Given the description of an element on the screen output the (x, y) to click on. 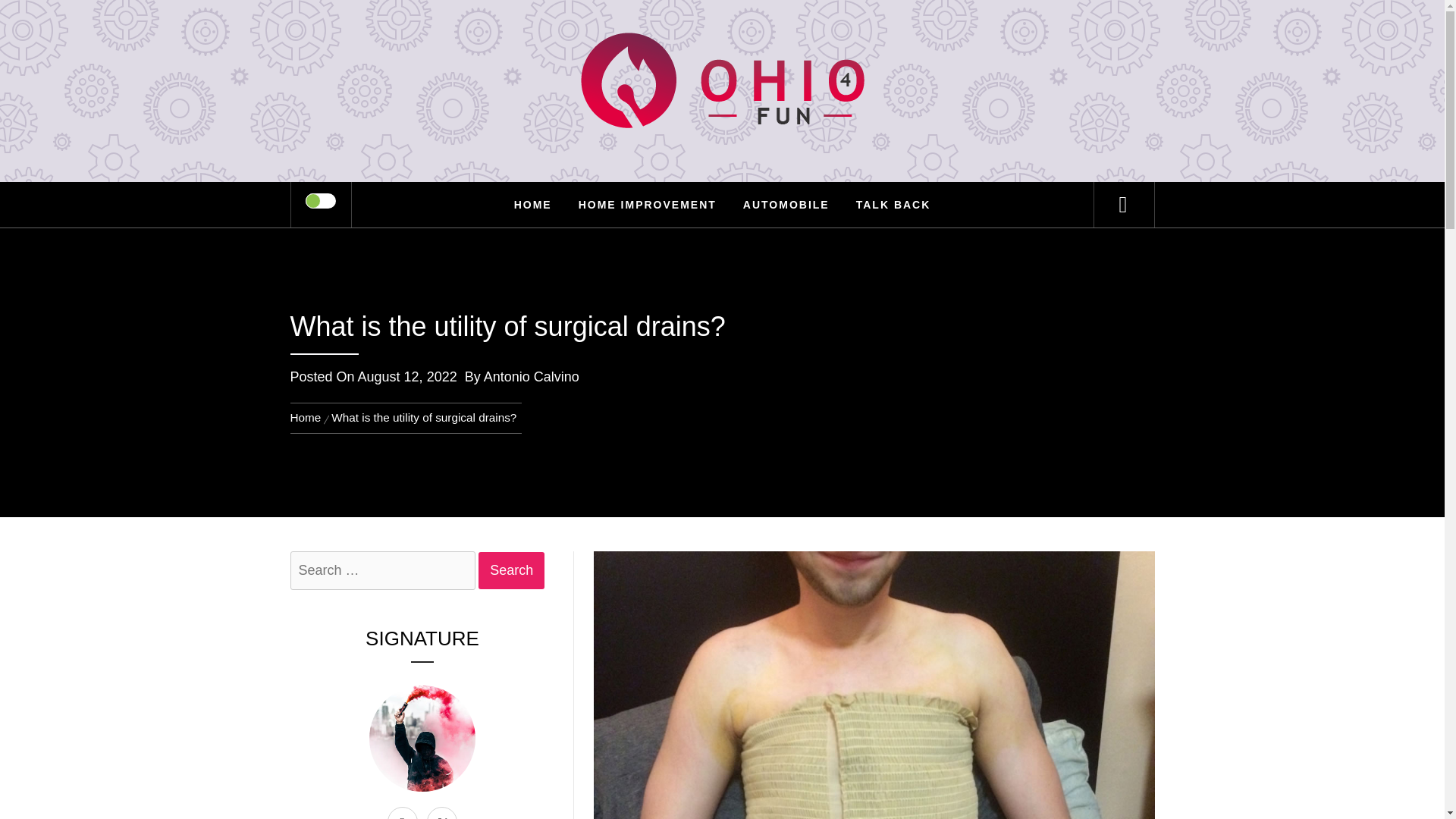
HOME (532, 204)
Search (511, 570)
Search (511, 570)
Home (307, 417)
August 12, 2022 (407, 376)
TALK BACK (893, 204)
HOME IMPROVEMENT (647, 204)
Search (797, 33)
OHIO 4 FUN (721, 74)
AUTOMOBILE (786, 204)
Search (511, 570)
Antonio Calvino (531, 376)
